Given the description of an element on the screen output the (x, y) to click on. 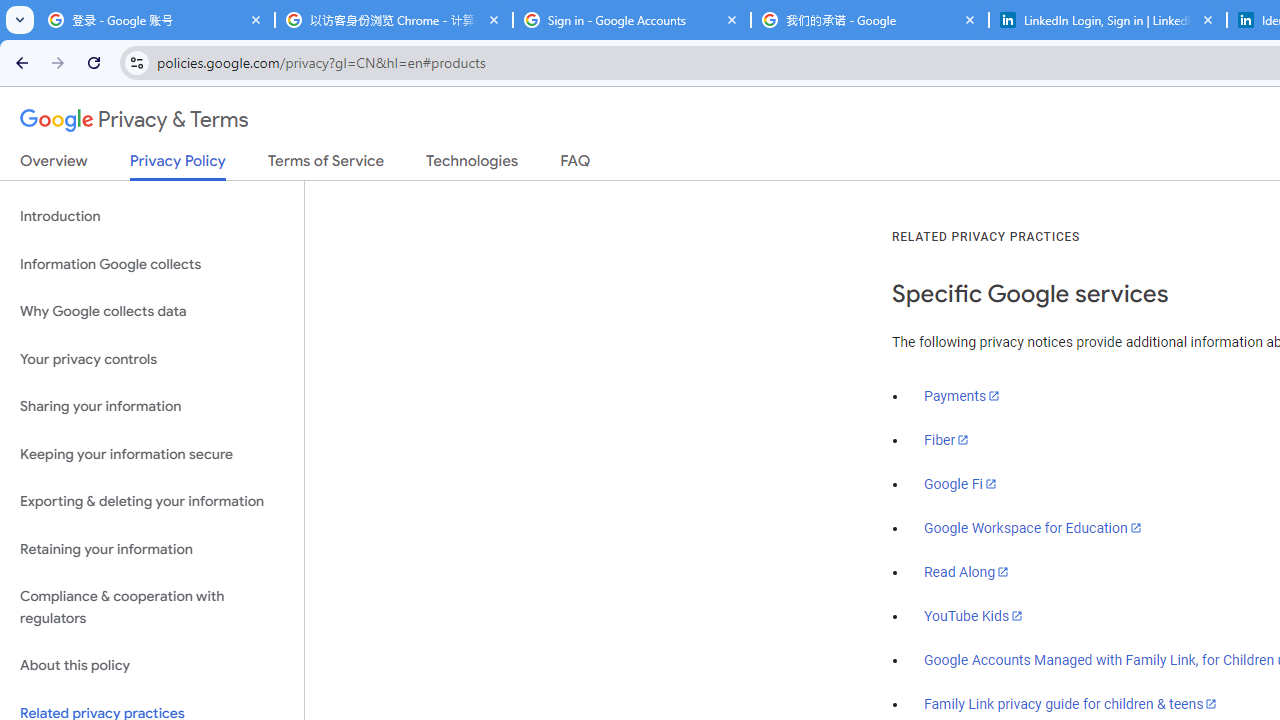
Google Workspace for Education (1032, 528)
Sign in - Google Accounts (632, 20)
Family Link privacy guide for children & teens (1071, 703)
Google Fi (960, 484)
